Given the description of an element on the screen output the (x, y) to click on. 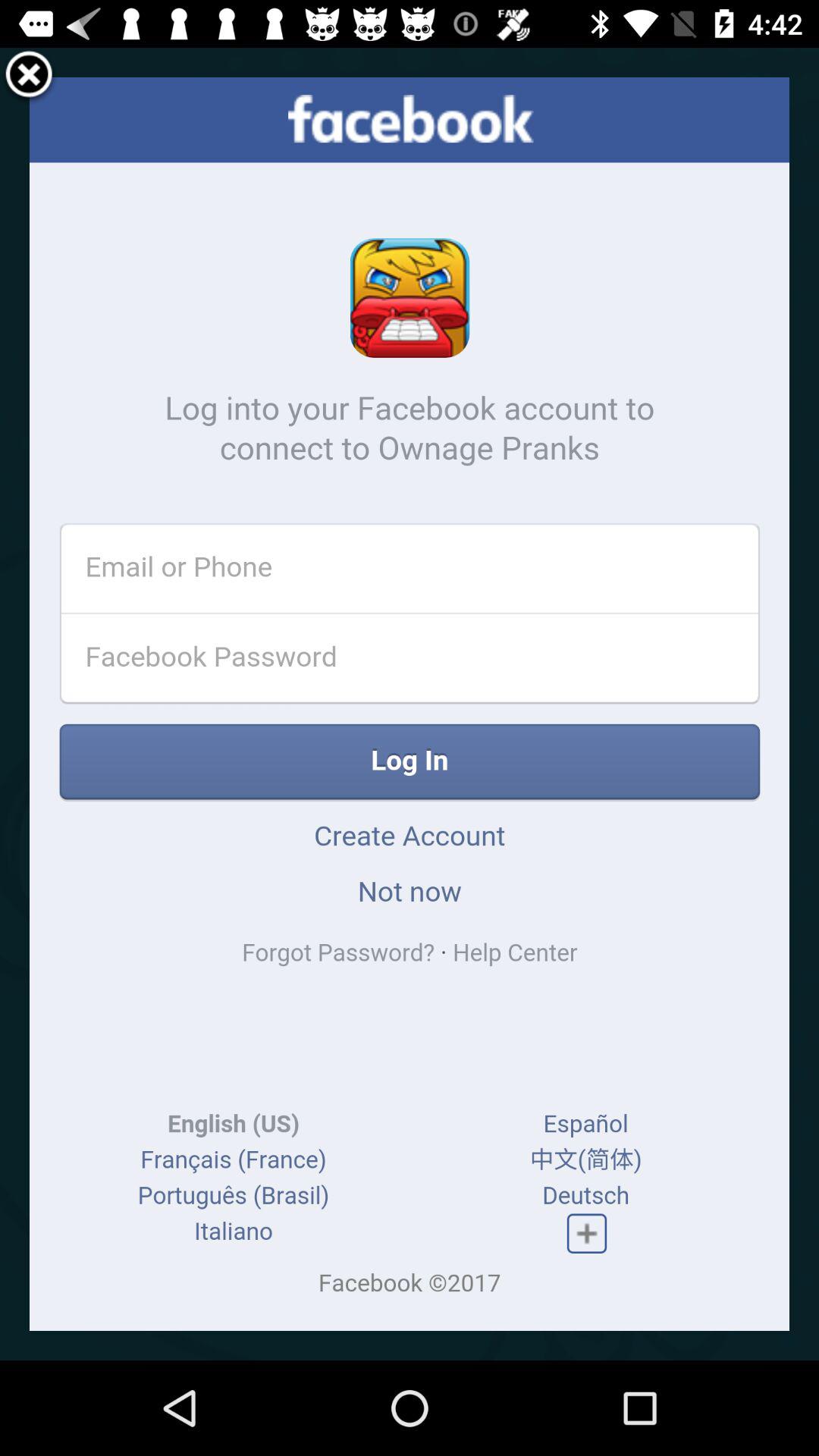
turn on the icon at the top left corner (29, 76)
